Given the description of an element on the screen output the (x, y) to click on. 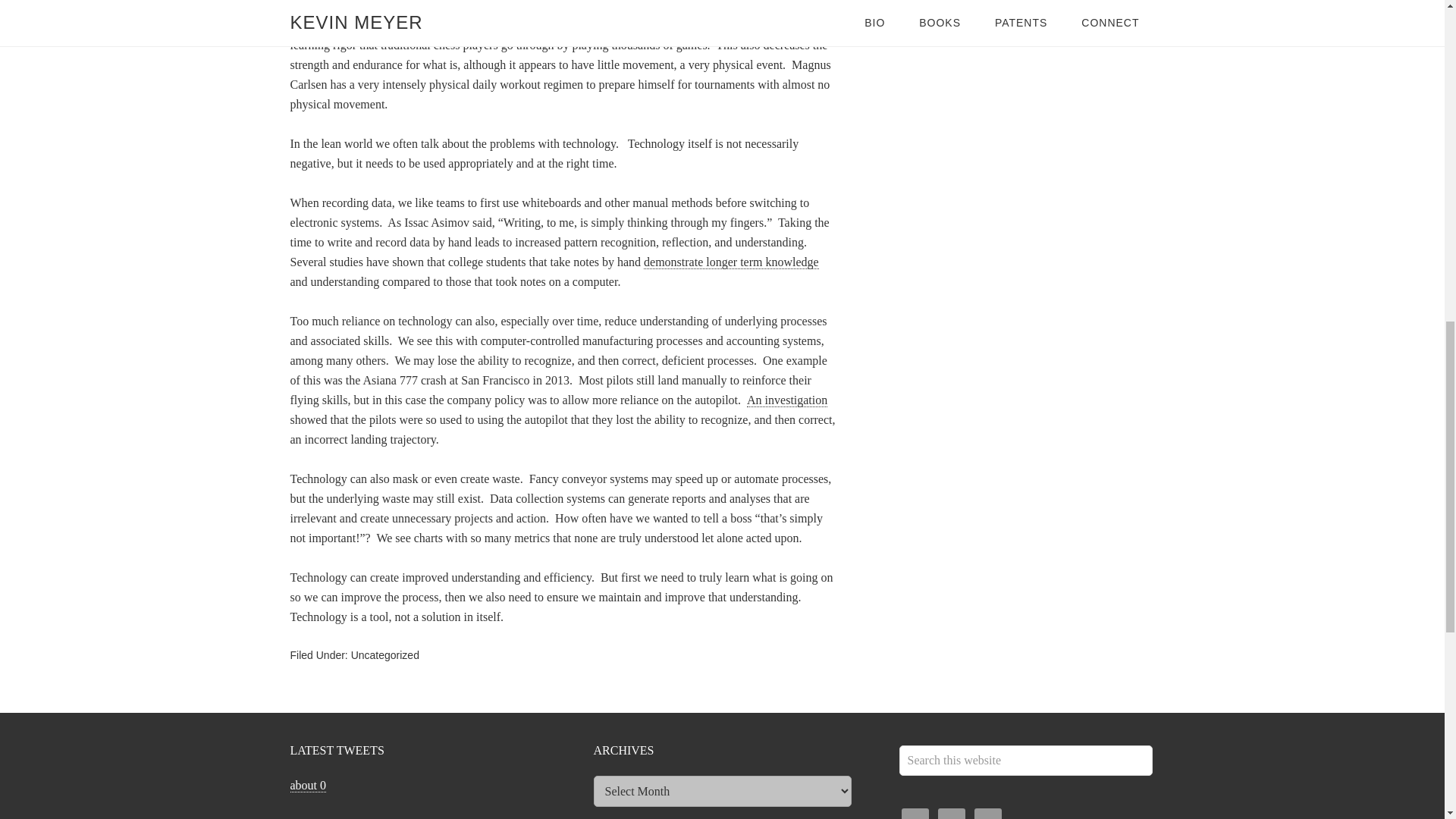
An investigation (786, 400)
demonstrate longer term knowledge (730, 262)
about 0 (307, 785)
Uncategorized (384, 654)
